Given the description of an element on the screen output the (x, y) to click on. 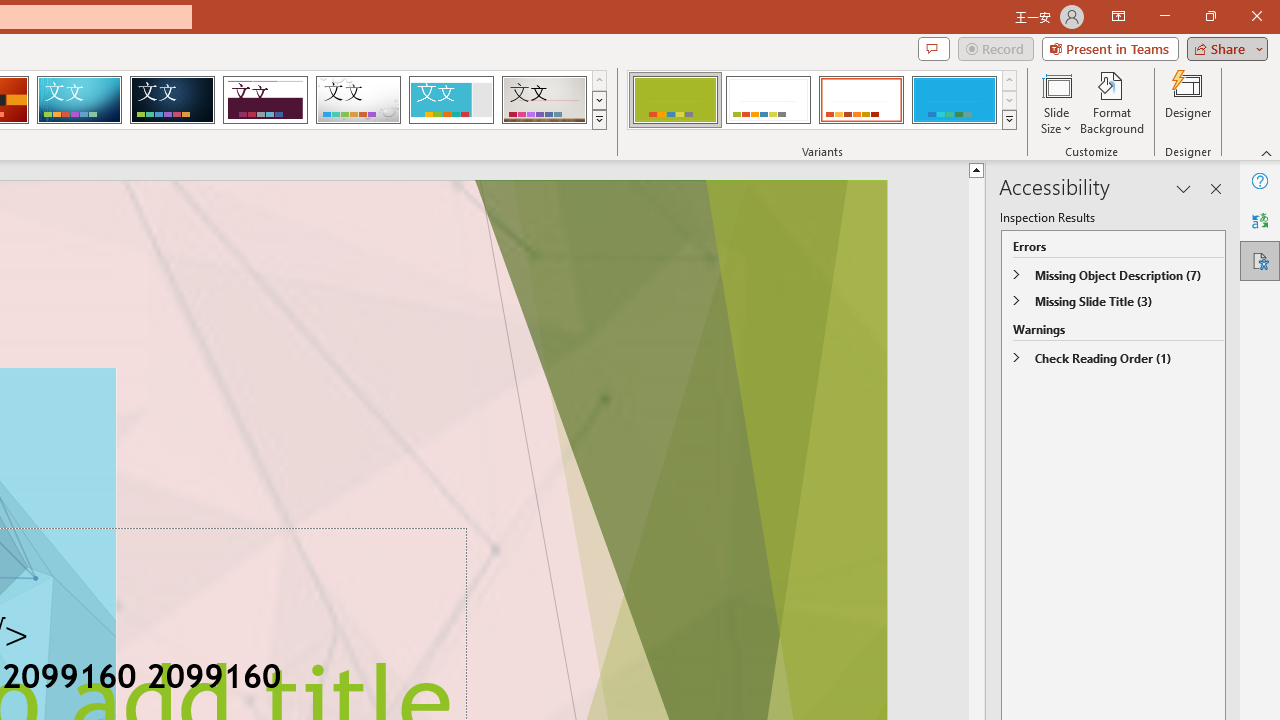
Damask (171, 100)
Droplet (358, 100)
Basis Variant 2 (768, 100)
Gallery (544, 100)
Themes (598, 120)
Frame (450, 100)
